Given the description of an element on the screen output the (x, y) to click on. 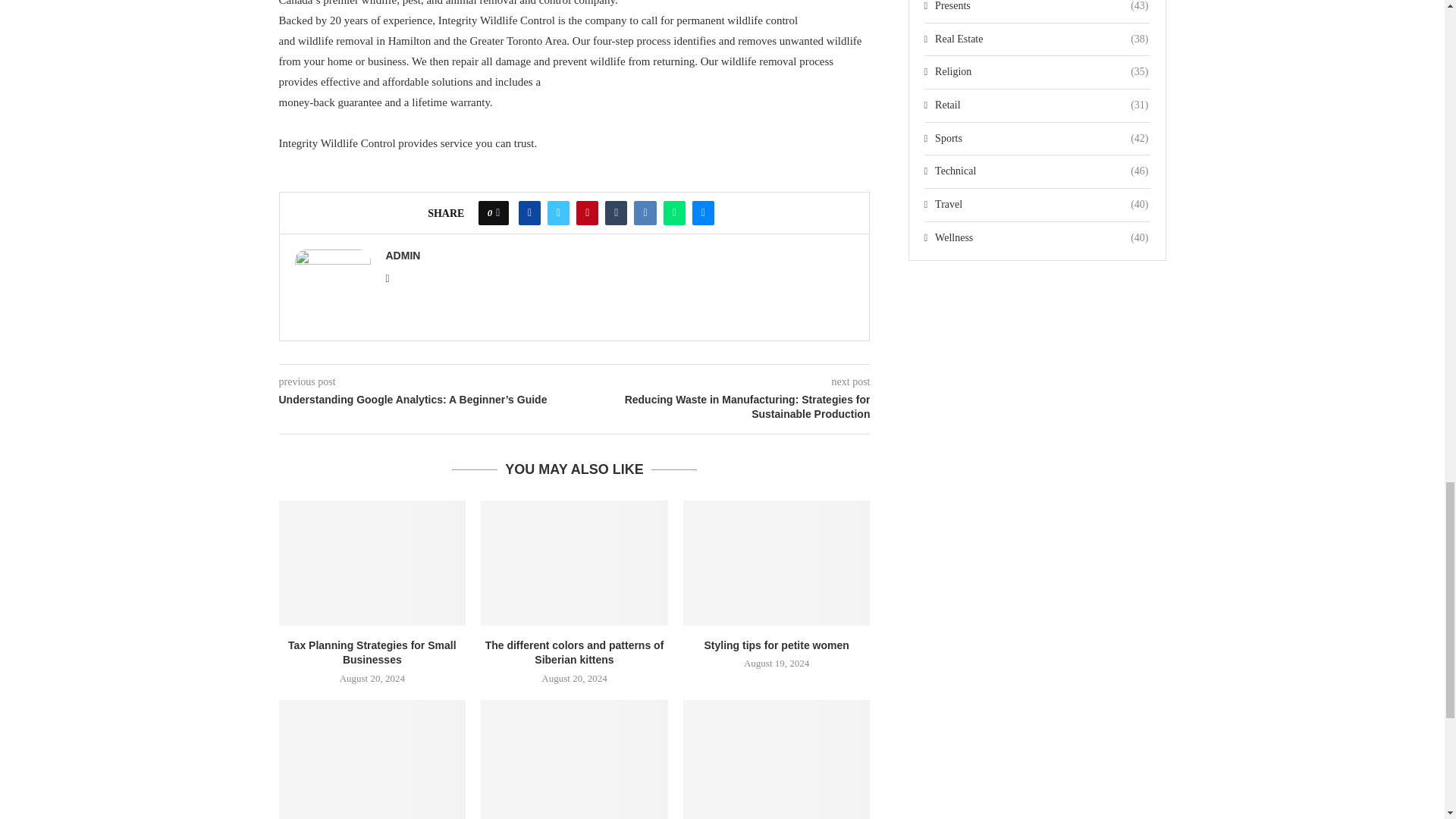
How to Stay Motivated in College (372, 759)
Author admin (402, 255)
Styling tips for petite women (776, 562)
The Benefits of Pet Insurance for Unexpected Vet Visits (776, 759)
Exploring the beautiful landscapes of Bavaria. (574, 759)
The different colors and patterns of Siberian kittens (574, 562)
Tax Planning Strategies for Small Businesses (372, 562)
